Given the description of an element on the screen output the (x, y) to click on. 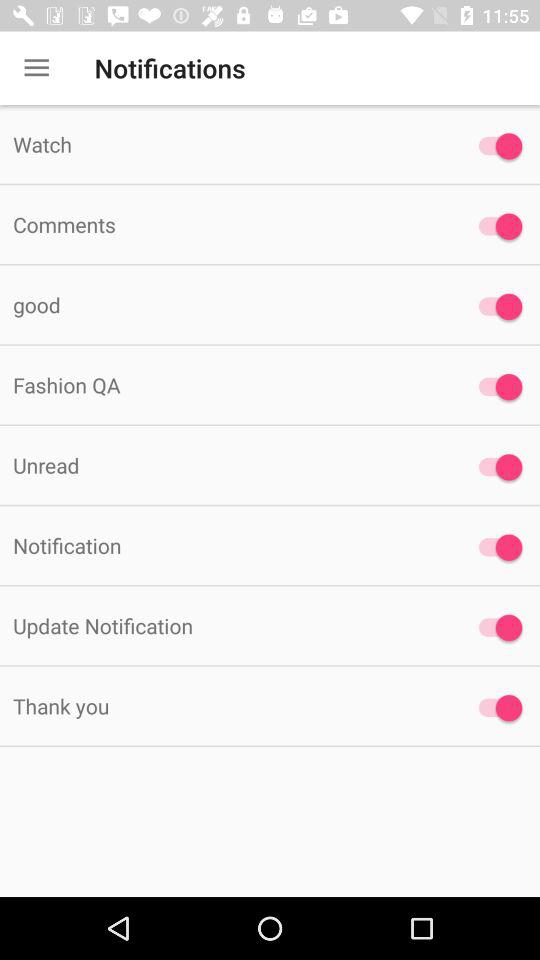
press the unread icon (225, 464)
